Given the description of an element on the screen output the (x, y) to click on. 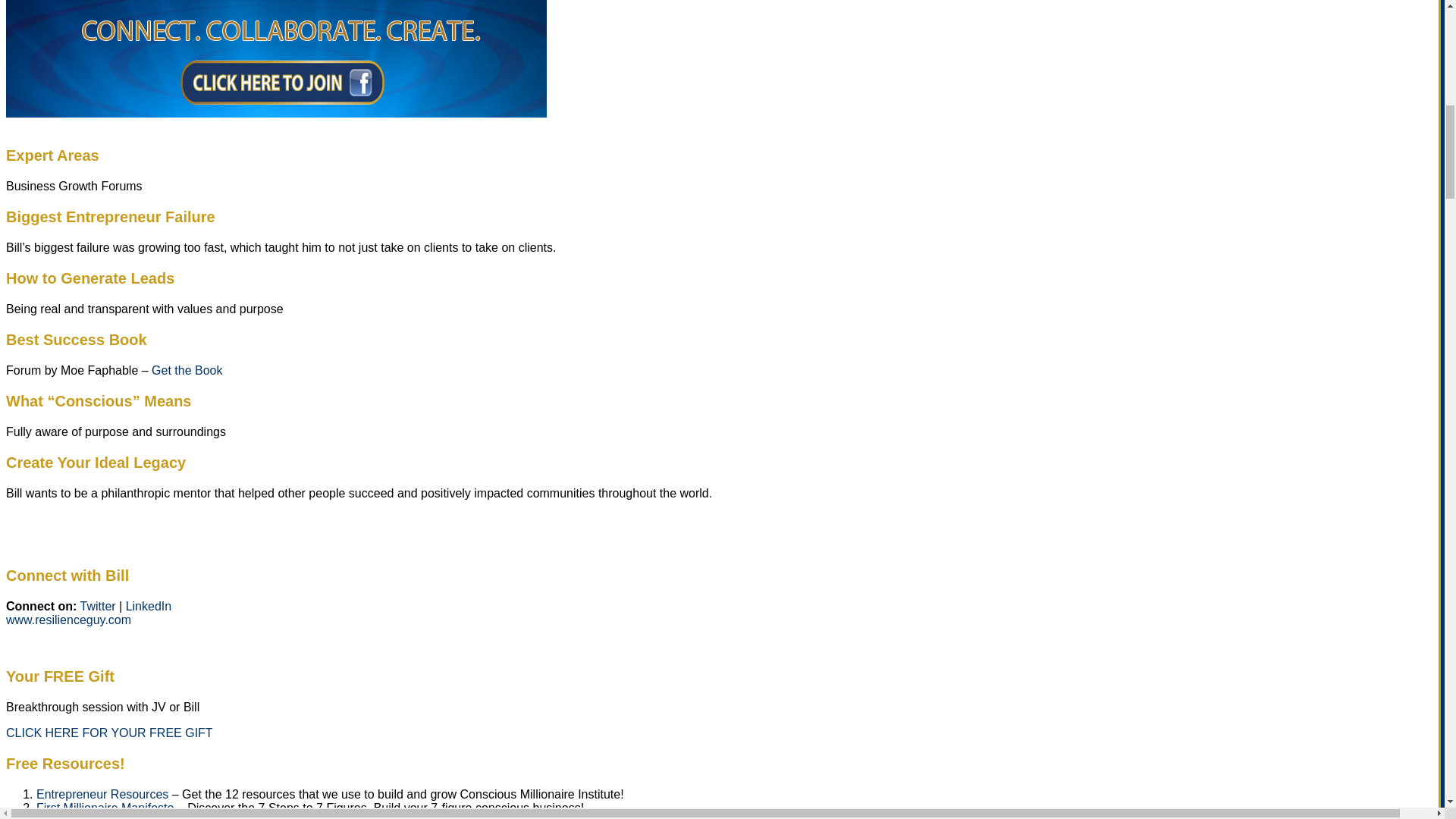
Twitter (99, 605)
Entrepreneur Resources (102, 793)
www.resilienceguy.com (68, 619)
CLICK HERE FOR YOUR FREE GIFT (108, 732)
LinkedIn (146, 605)
Get the Book (186, 369)
